Given the description of an element on the screen output the (x, y) to click on. 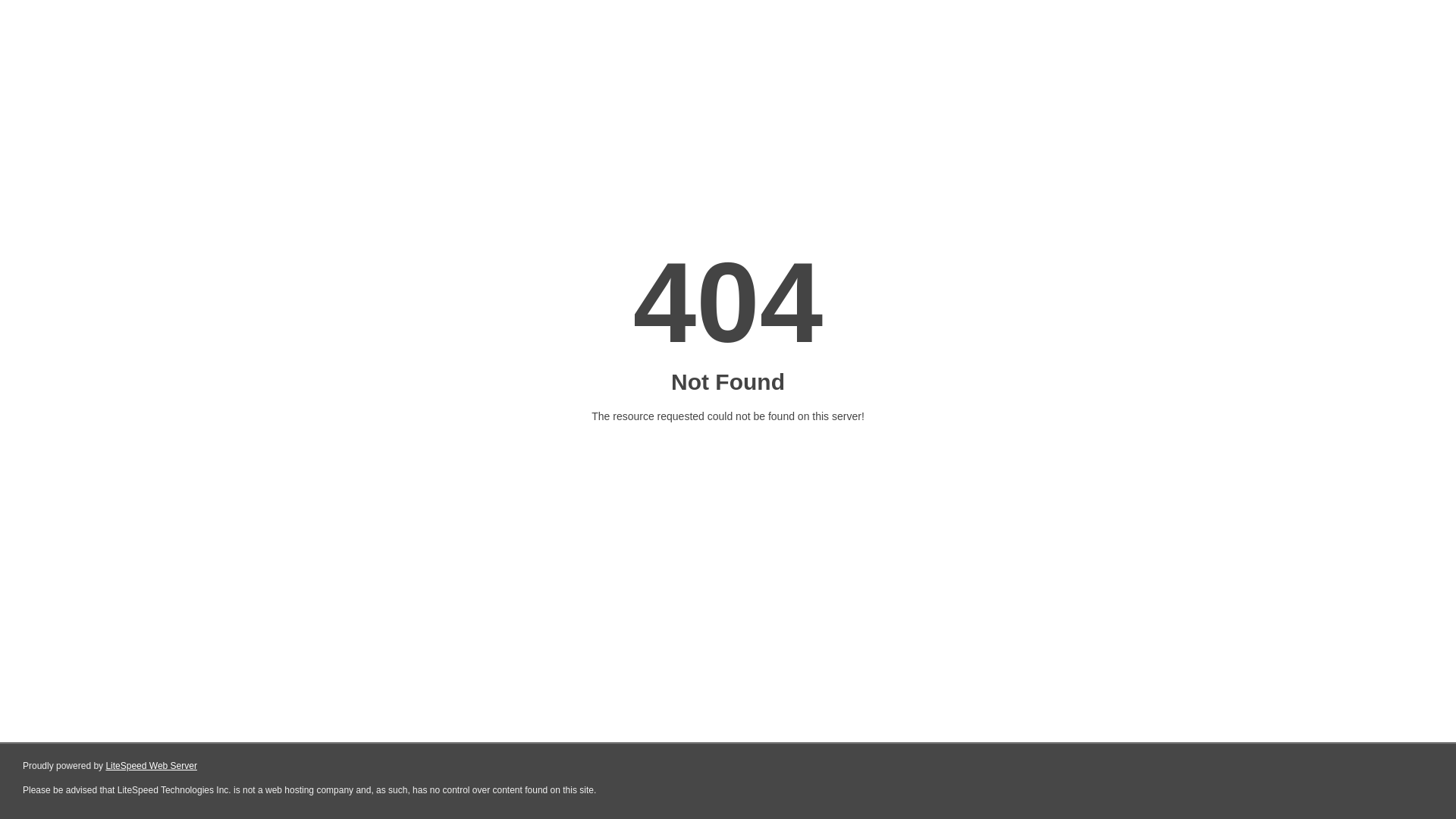
LiteSpeed Web Server (150, 765)
